Given the description of an element on the screen output the (x, y) to click on. 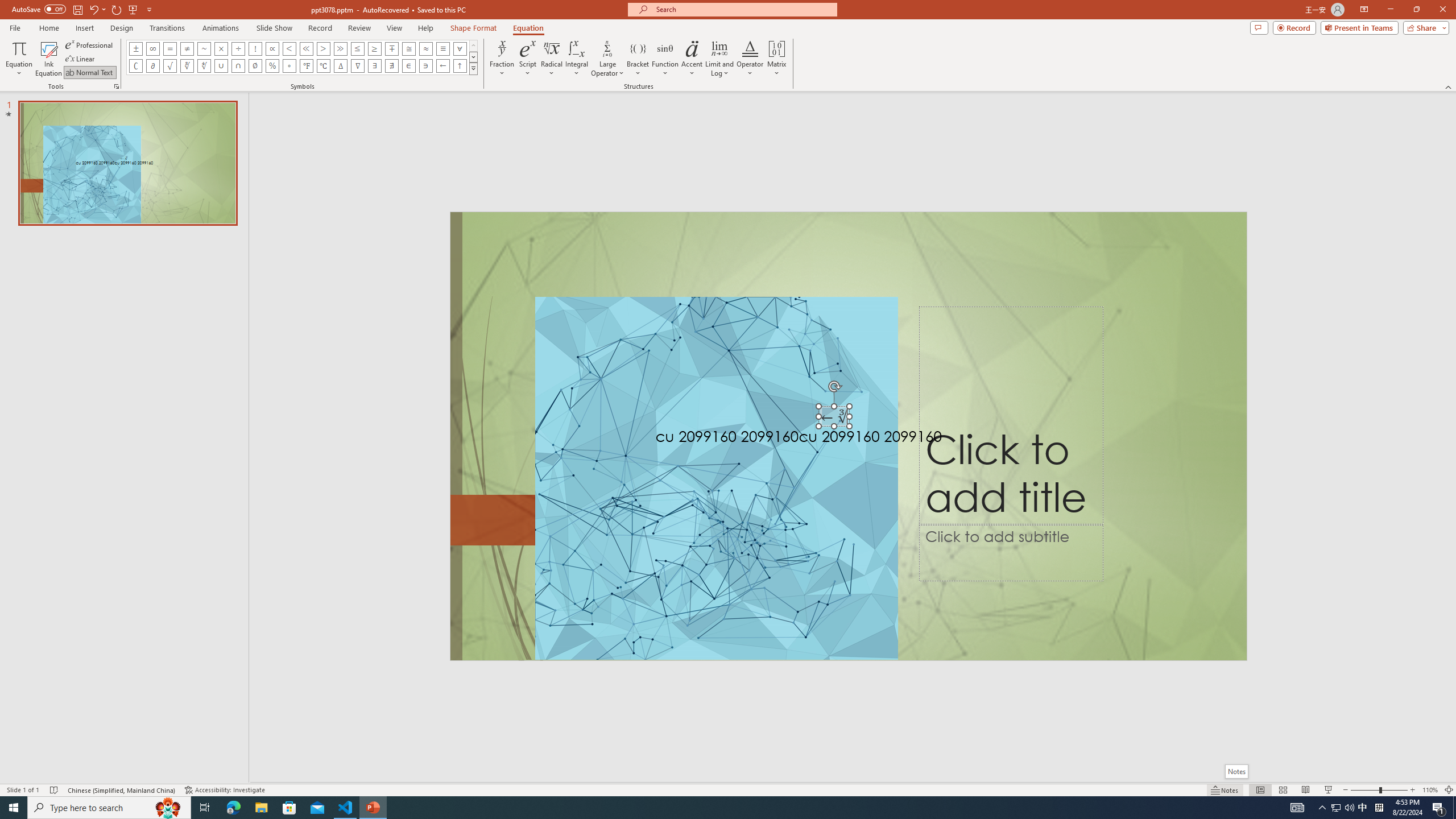
Equation Symbol Much Greater Than (340, 48)
Equation Symbol Much Less Than (306, 48)
Normal Text (90, 72)
Equation Symbol Contains as Member (425, 65)
Matrix (776, 58)
